Given the description of an element on the screen output the (x, y) to click on. 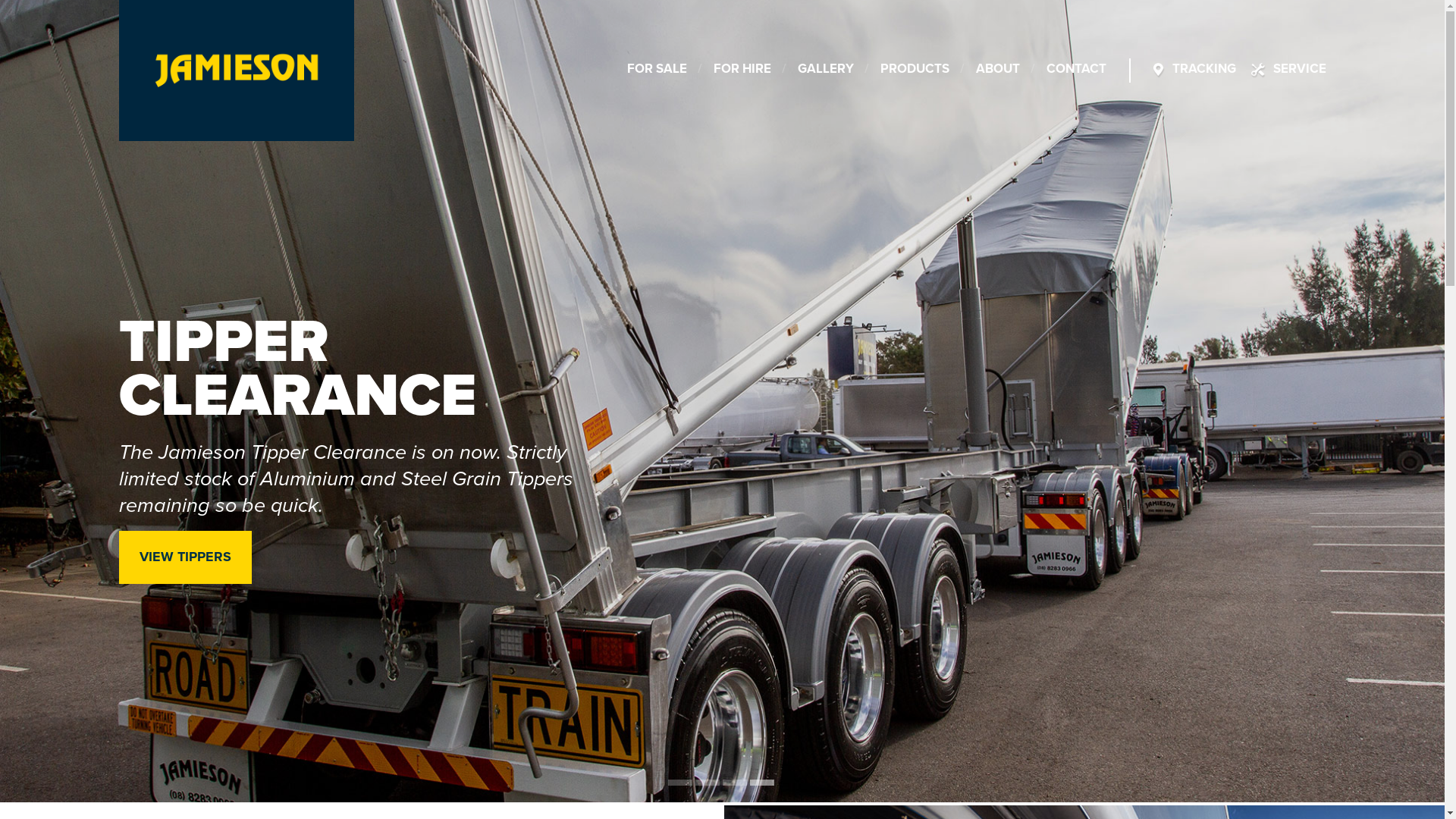
GALLERY Element type: text (825, 70)
FOR SALE Element type: text (657, 70)
CONTACT Element type: text (1076, 70)
FOR HIRE Element type: text (742, 70)
PRODUCTS Element type: text (914, 70)
TRACKING Element type: text (1204, 70)
VIEW TIPPERS Element type: text (184, 556)
SERVICE Element type: text (1298, 70)
ABOUT Element type: text (997, 70)
